Given the description of an element on the screen output the (x, y) to click on. 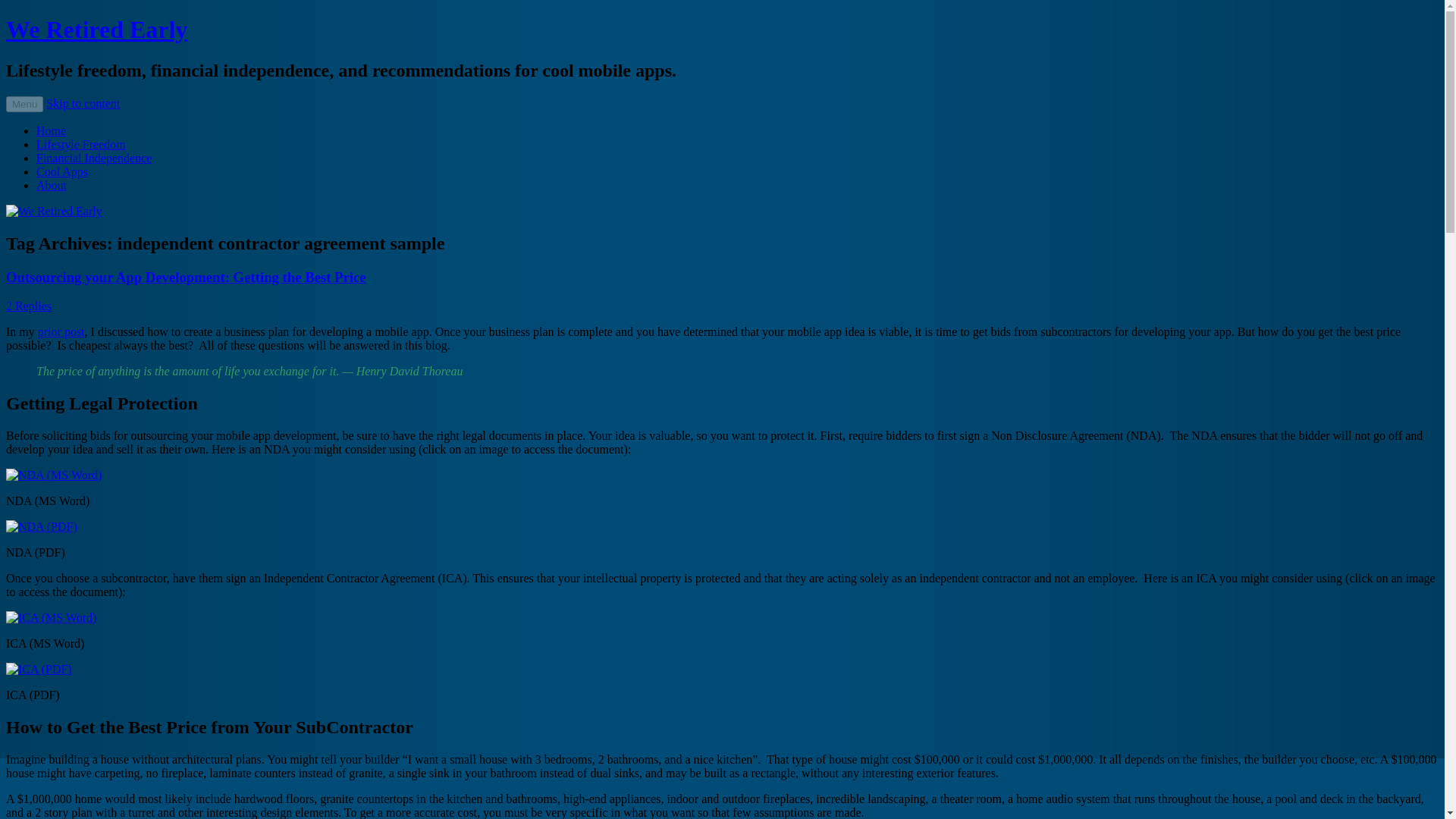
2 Replies (27, 305)
Cool Apps (61, 171)
Lifestyle Freedom (80, 144)
Menu (24, 104)
About (51, 185)
Financial Independence (93, 157)
Skip to content (82, 103)
Home (50, 130)
prior post (60, 331)
We Retired Early (96, 29)
Skip to content (82, 103)
Outsourcing your App Development: Getting the Best Price (185, 277)
We Retired Early (96, 29)
